Given the description of an element on the screen output the (x, y) to click on. 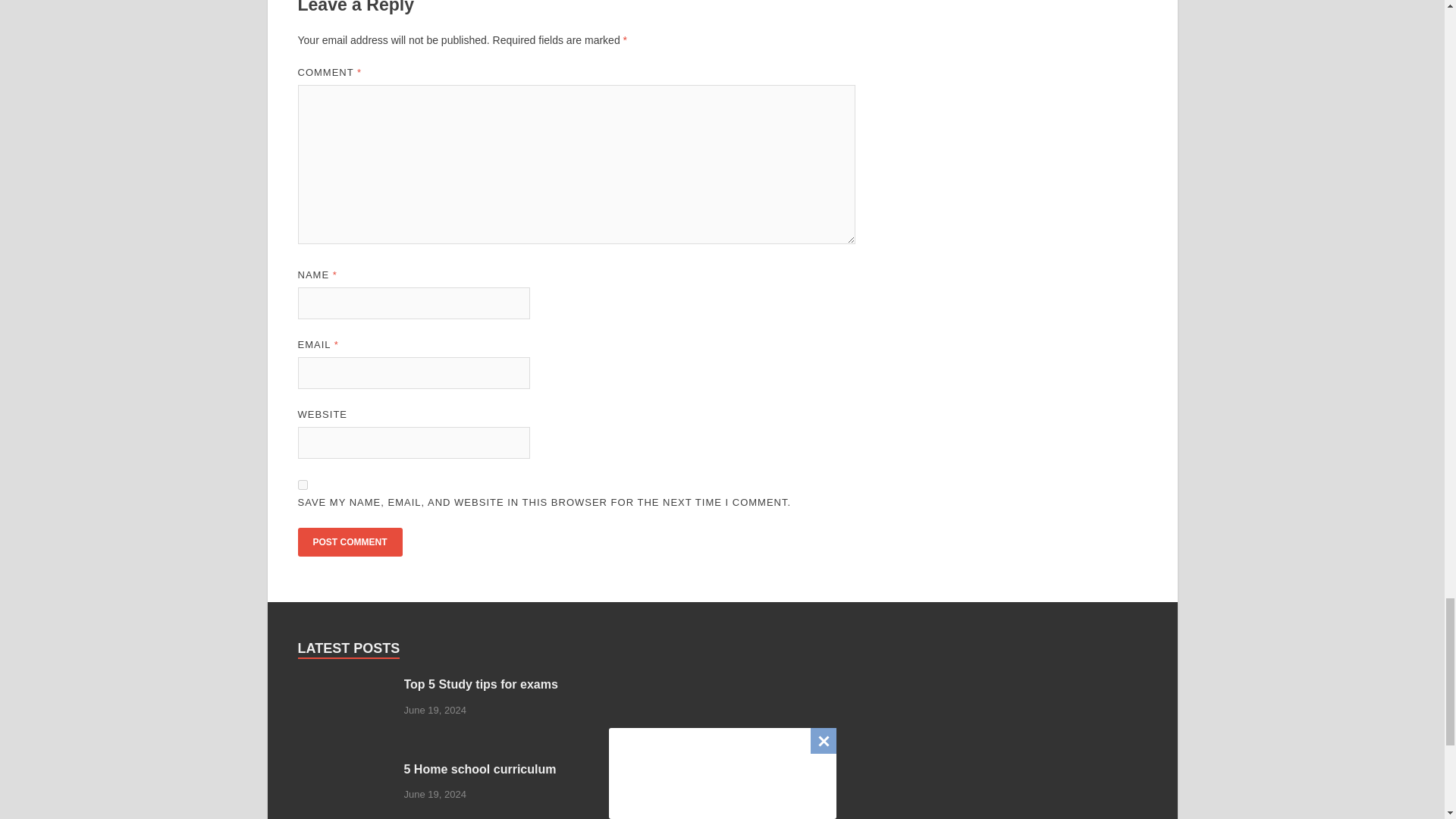
Post Comment (349, 541)
Top 5 Study tips for exams (344, 685)
5 Home school curriculum (344, 770)
Post Comment (349, 541)
yes (302, 483)
